Given the description of an element on the screen output the (x, y) to click on. 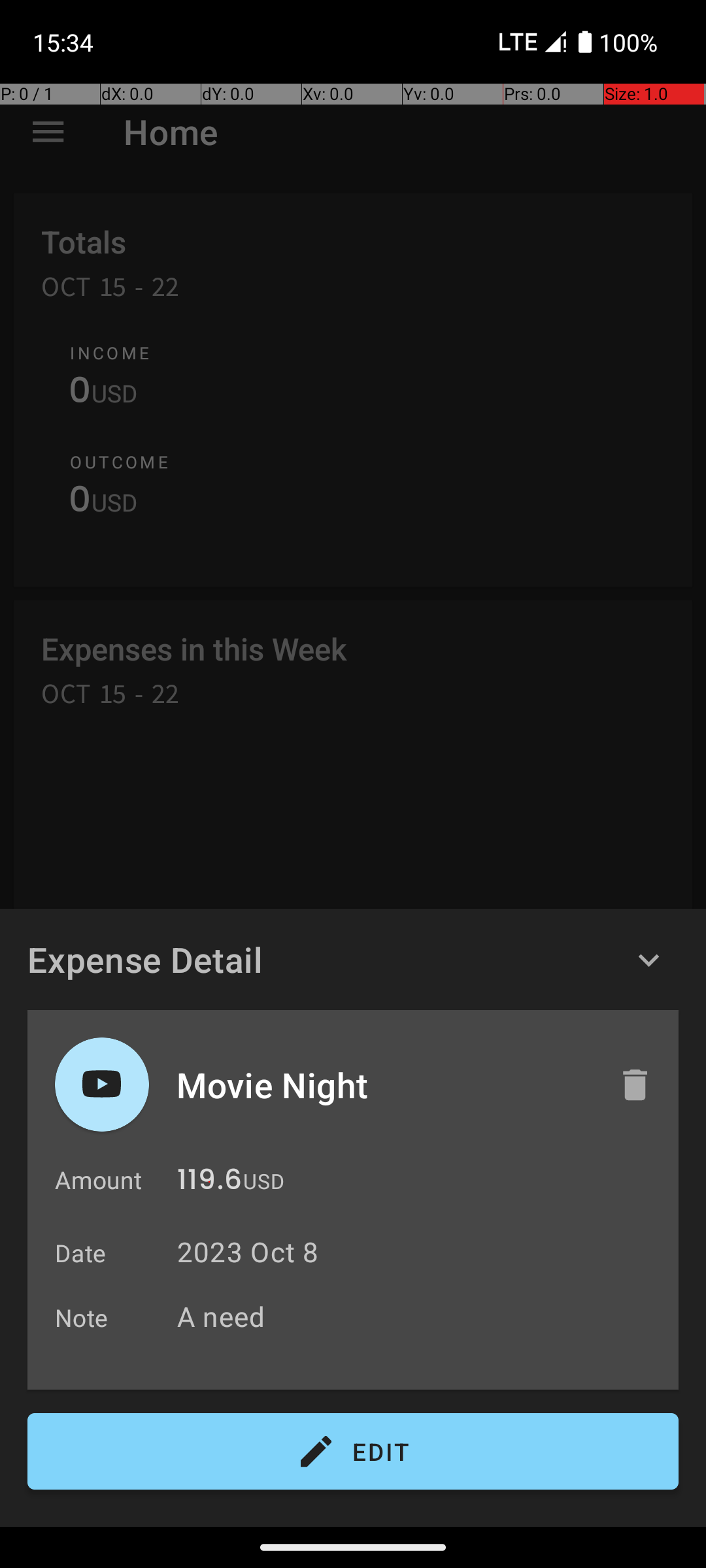
Movie Night Element type: android.widget.TextView (383, 1084)
119.6 Element type: android.widget.TextView (209, 1182)
